Given the description of an element on the screen output the (x, y) to click on. 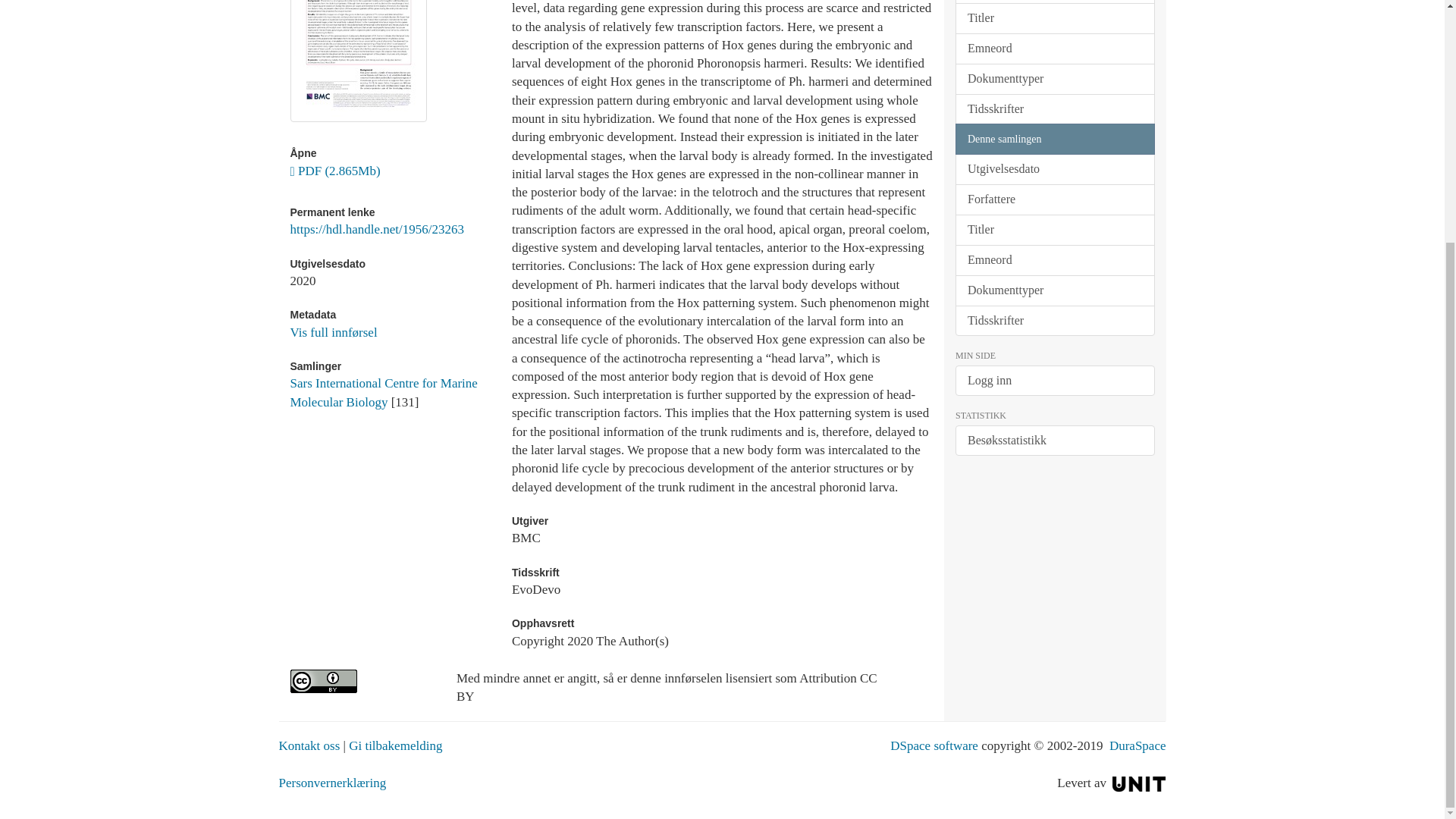
Unit (1139, 782)
Sars International Centre for Marine Molecular Biology (383, 391)
Attribution CC BY (360, 680)
Titler (1054, 18)
Forfattere (1054, 2)
